Given the description of an element on the screen output the (x, y) to click on. 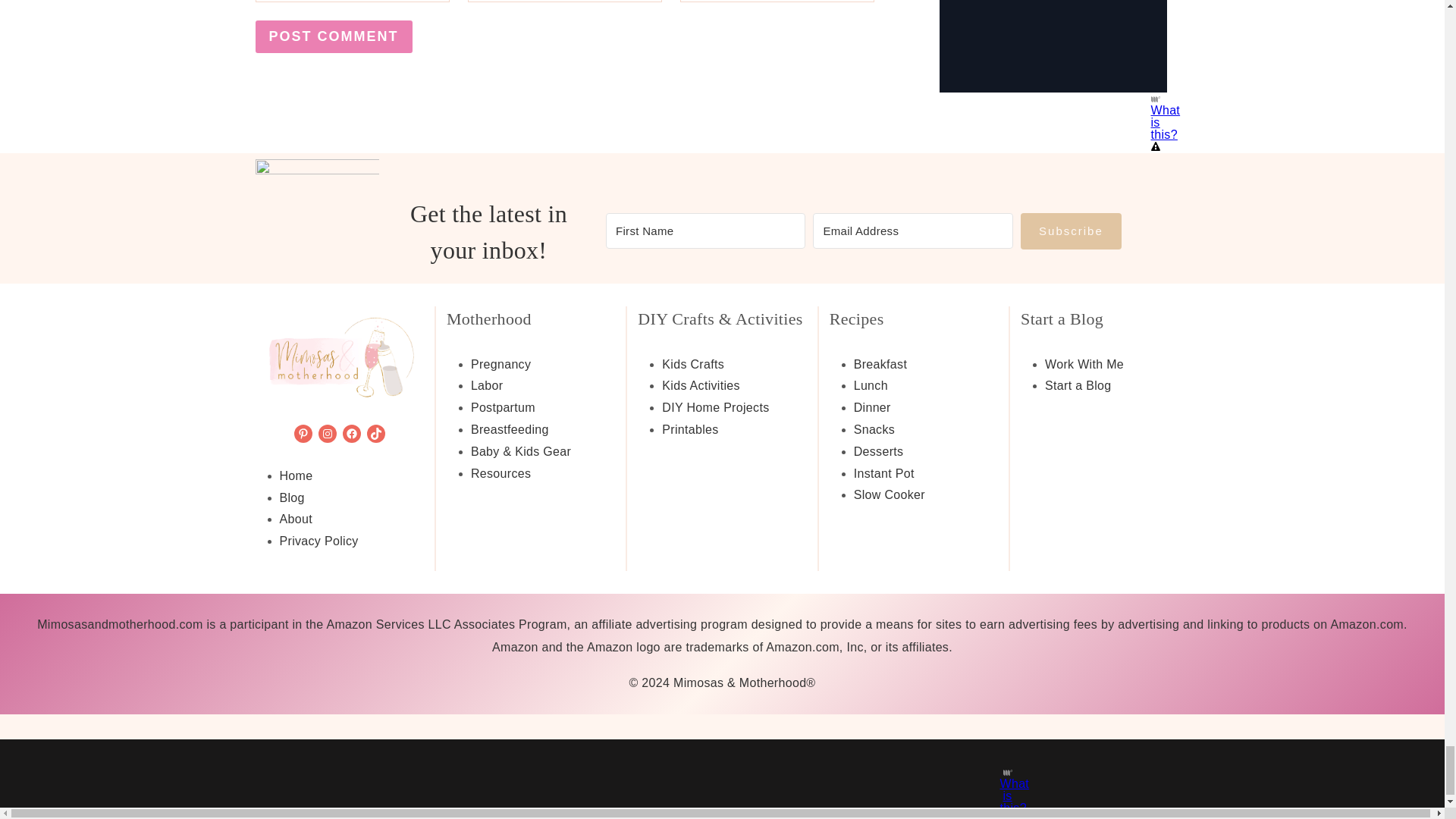
Post Comment (333, 36)
